Given the description of an element on the screen output the (x, y) to click on. 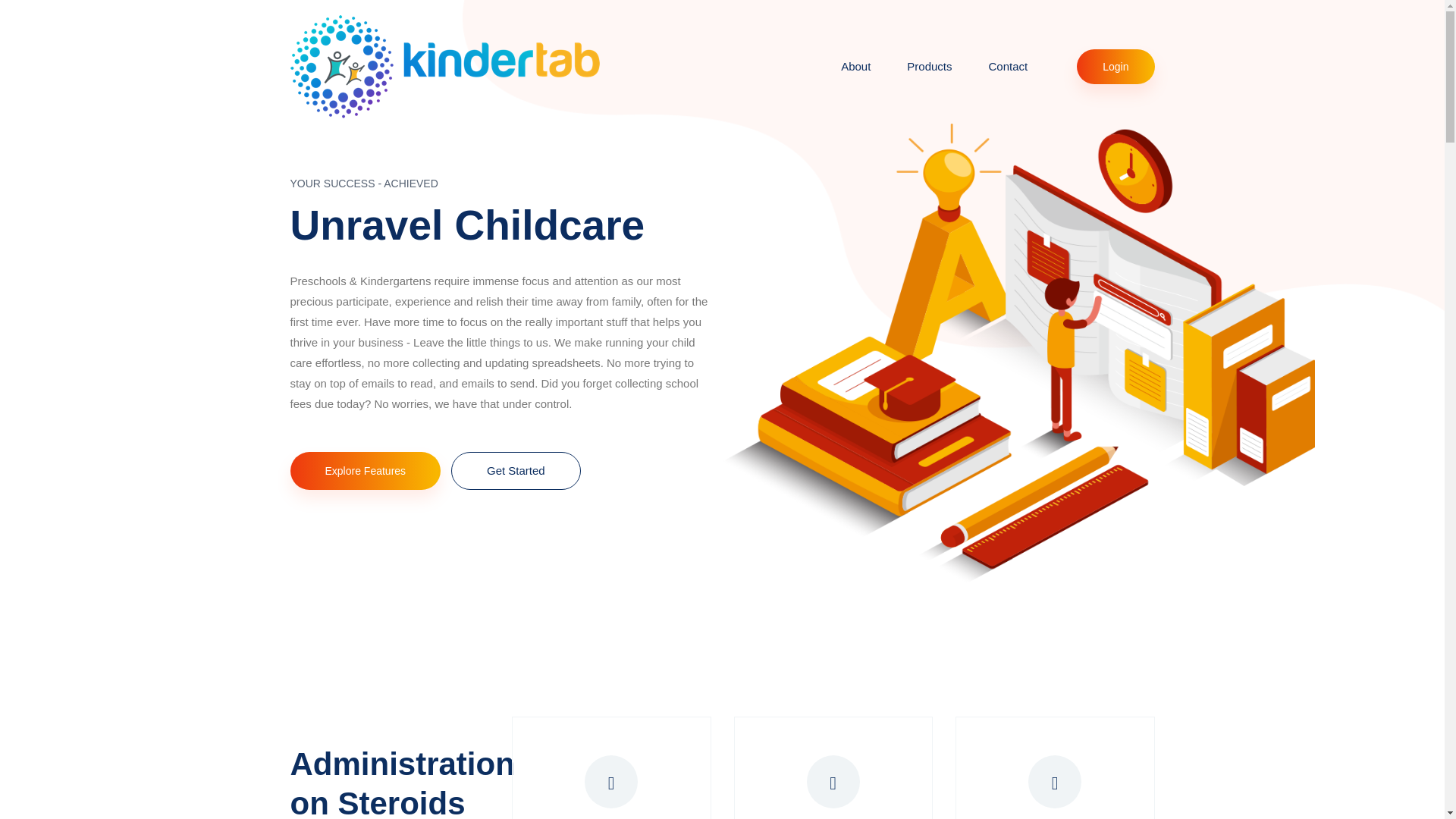
Products (928, 67)
About (855, 67)
Contact (1008, 67)
Explore Features (365, 470)
Login (1115, 66)
Get Started (515, 471)
